Given the description of an element on the screen output the (x, y) to click on. 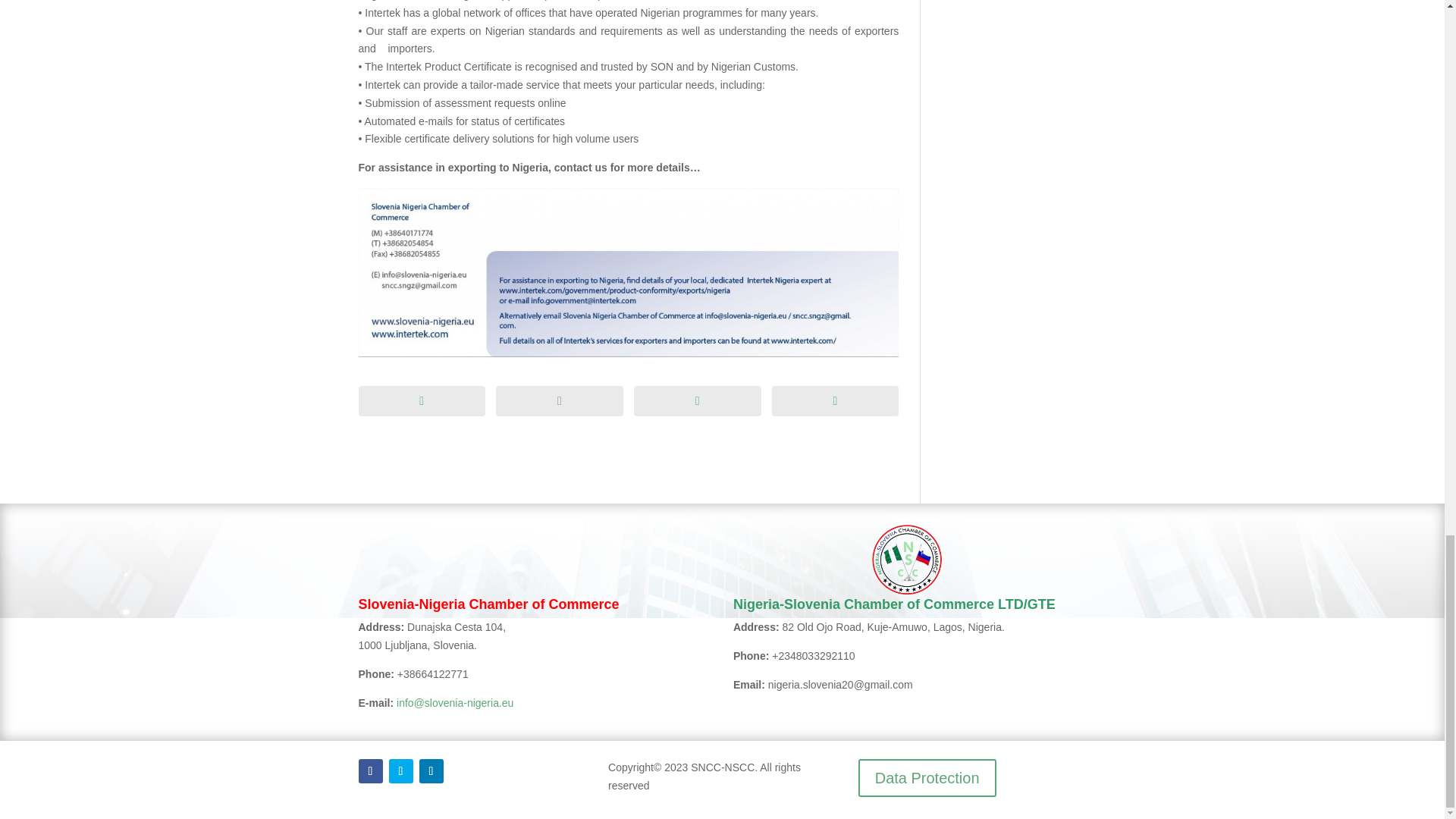
Follow on Twitter (400, 770)
Data Protection (927, 777)
Slovenia-Nigeria Chamber of Commerce (488, 604)
Follow on LinkedIn (430, 770)
Follow on Facebook (369, 770)
